Given the description of an element on the screen output the (x, y) to click on. 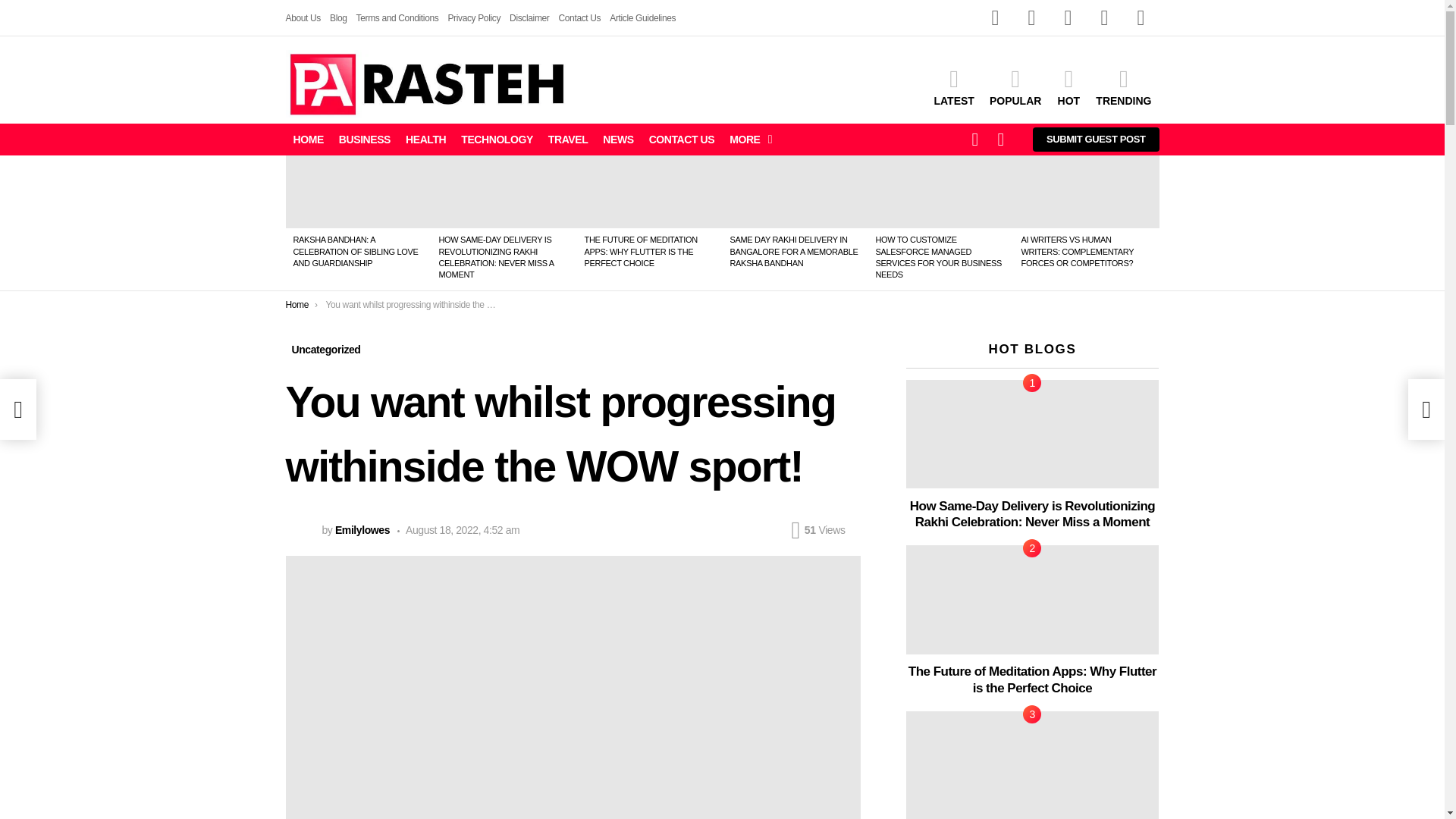
About Us (302, 17)
TRAVEL (567, 138)
CONTACT US (682, 138)
MORE (746, 138)
tumblr (1140, 18)
HEALTH (424, 138)
TRENDING (1122, 86)
Article Guidelines (642, 17)
